Given the description of an element on the screen output the (x, y) to click on. 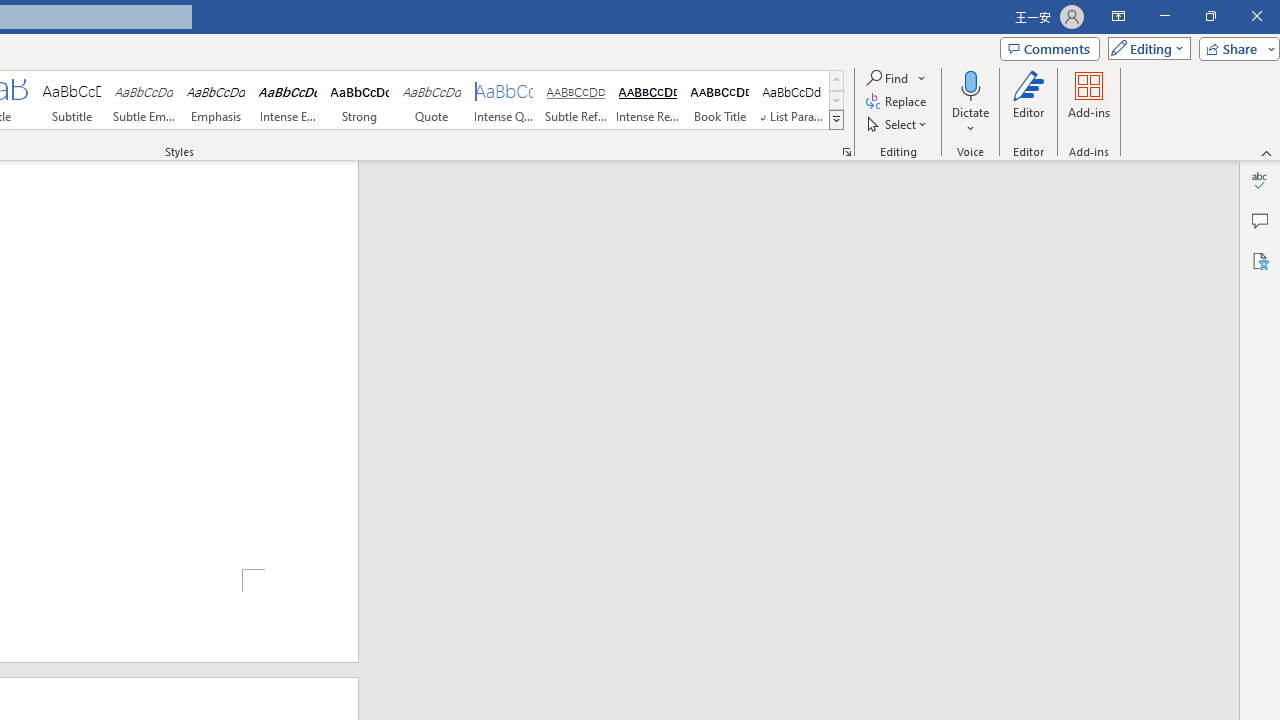
Accessibility (1260, 260)
Quote (431, 100)
Strong (359, 100)
Subtitle (71, 100)
Intense Emphasis (287, 100)
